Given the description of an element on the screen output the (x, y) to click on. 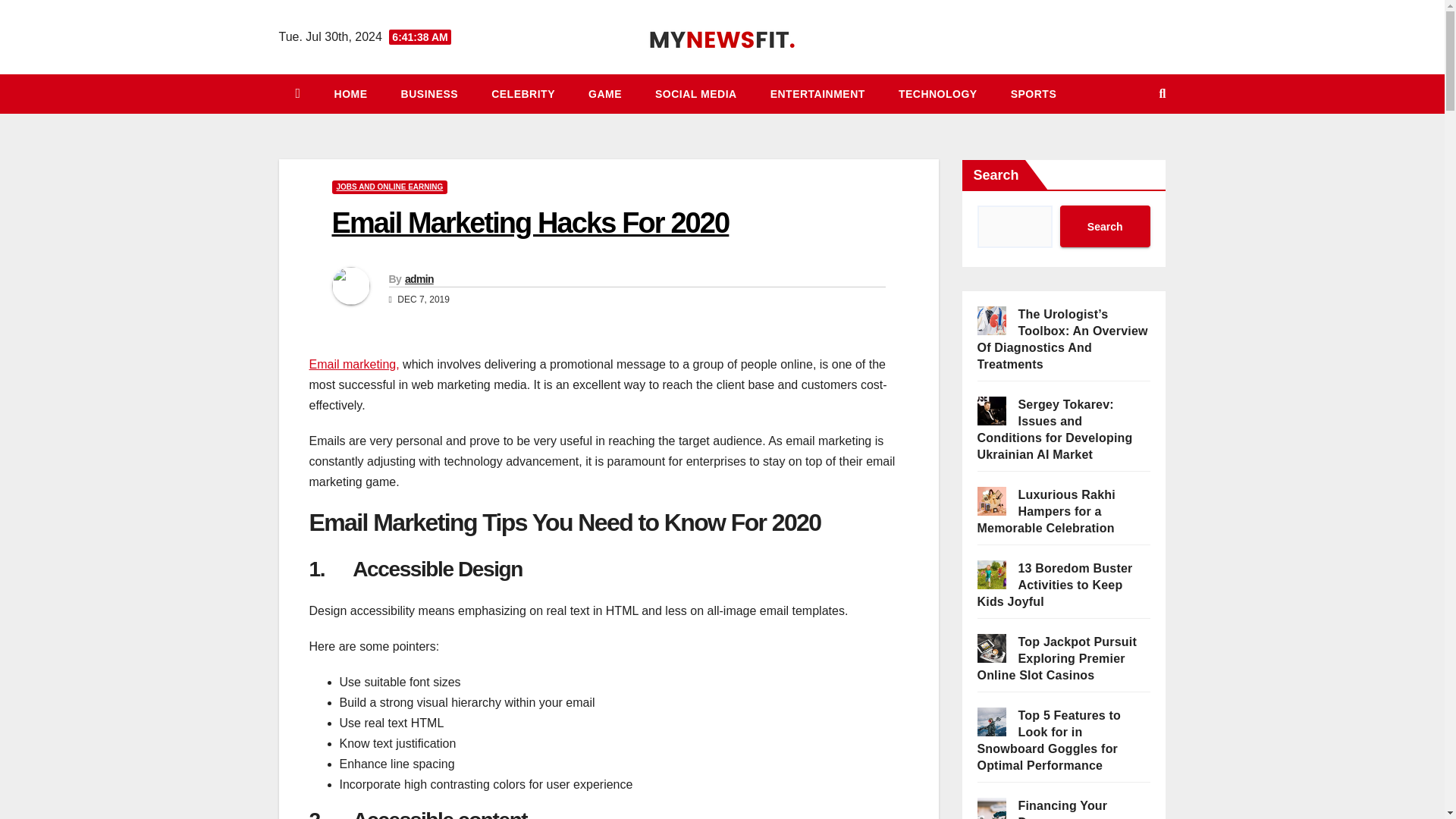
JOBS AND ONLINE EARNING (389, 187)
Email Marketing Hacks For 2020 (530, 223)
Sports (1034, 93)
Permalink to: Email Marketing Hacks For 2020 (530, 223)
GAME (605, 93)
ENTERTAINMENT (818, 93)
Entertainment (818, 93)
Celebrity (523, 93)
CELEBRITY (523, 93)
SPORTS (1034, 93)
Email marketing, (353, 364)
Social Media (696, 93)
admin (418, 278)
Home (350, 93)
Game (605, 93)
